Given the description of an element on the screen output the (x, y) to click on. 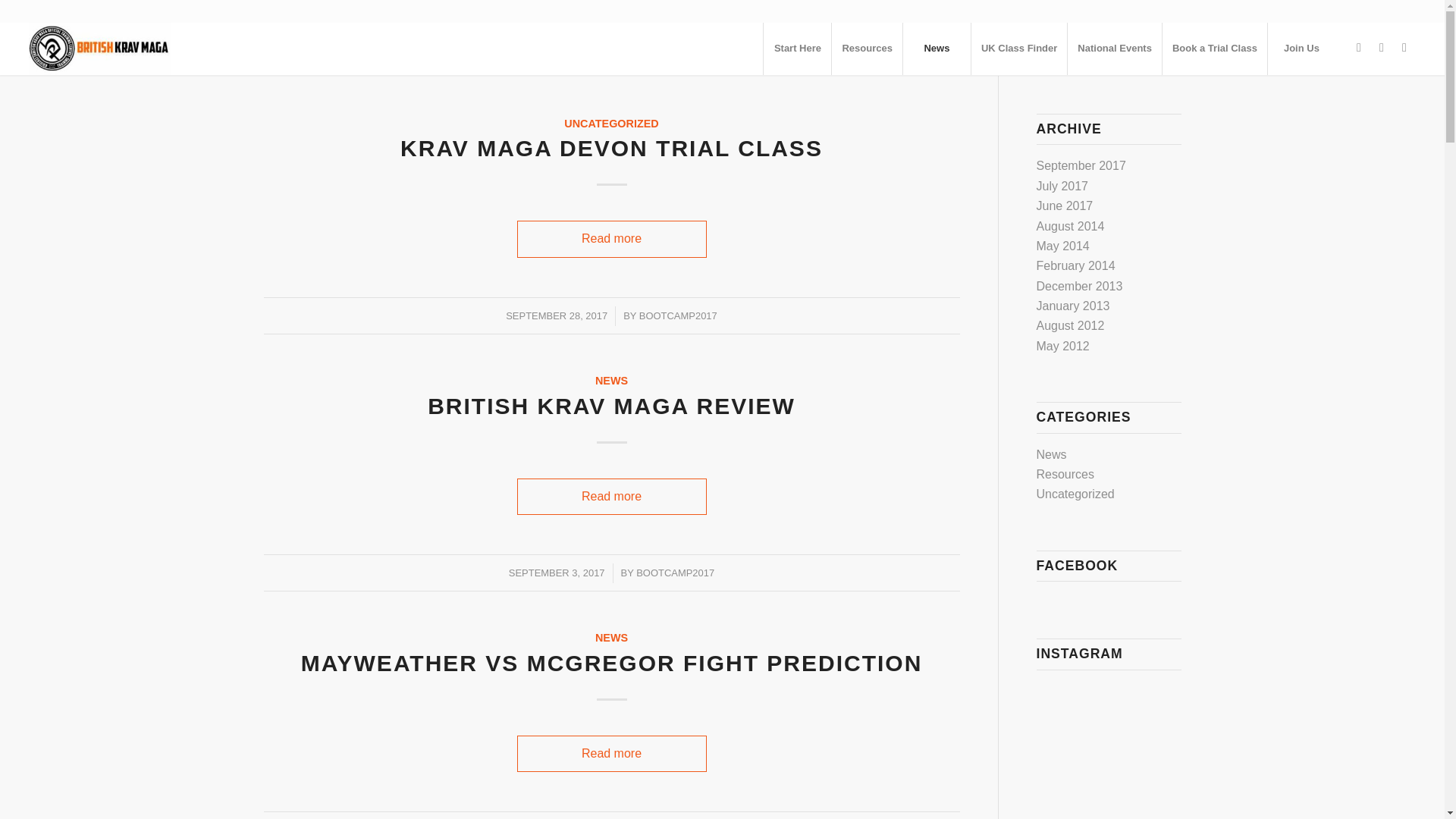
Book a Trial Class (1213, 48)
BOOTCAMP2017 (675, 572)
Permanent Link: Mayweather Vs Mcgregor fight prediction (612, 662)
BOOTCAMP2017 (678, 315)
MAYWEATHER VS MCGREGOR FIGHT PREDICTION (612, 662)
UNCATEGORIZED (611, 123)
KRAV MAGA DEVON TRIAL CLASS (611, 147)
Permanent Link: Krav Maga Devon Trial Class (611, 147)
Read more (611, 753)
Start Here (796, 48)
Posts by bootcamp2017 (678, 315)
NEWS (611, 380)
Facebook (1359, 47)
Join Us (1300, 48)
Instagram (1381, 47)
